Given the description of an element on the screen output the (x, y) to click on. 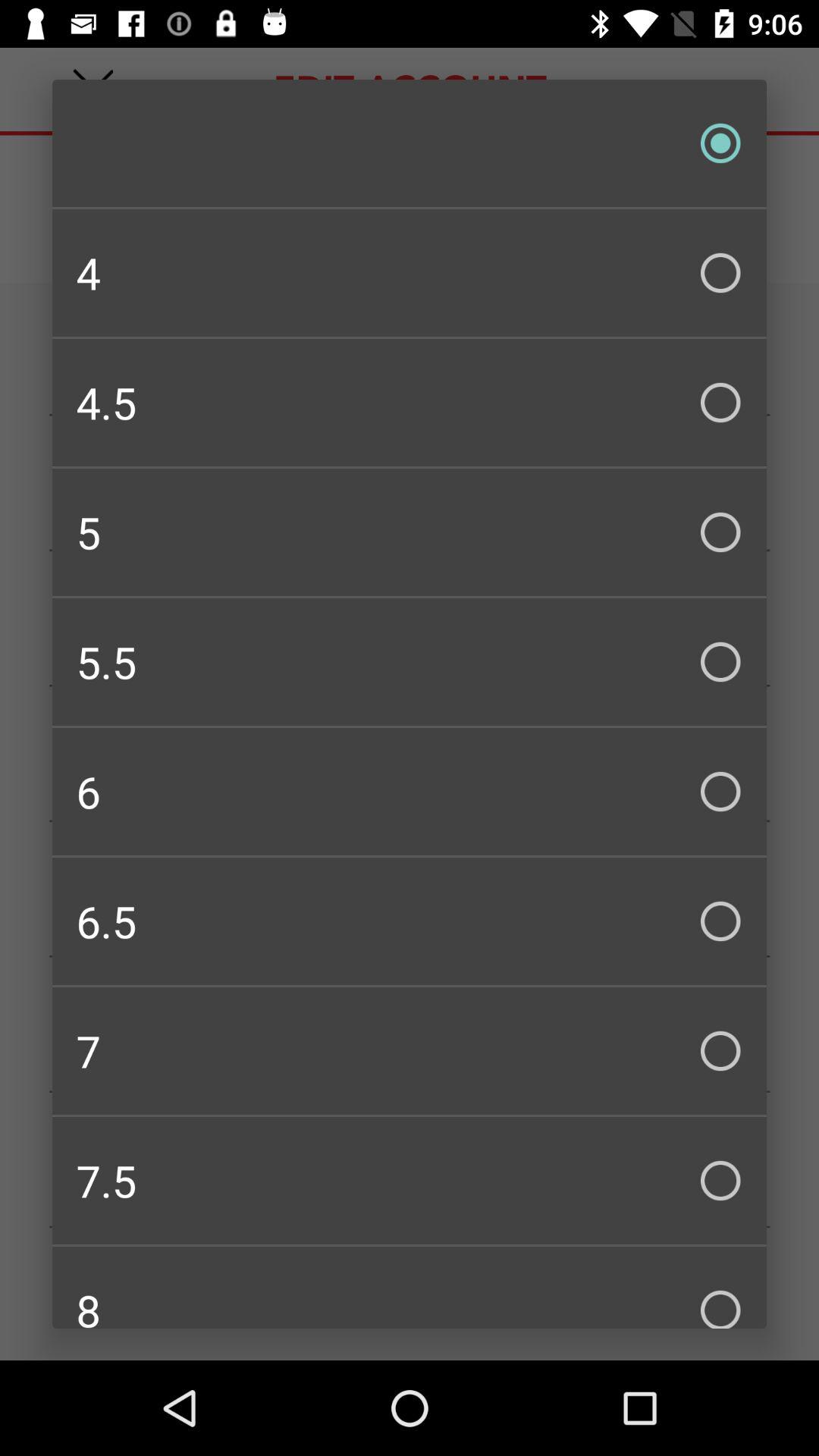
scroll until the 8 (409, 1287)
